Given the description of an element on the screen output the (x, y) to click on. 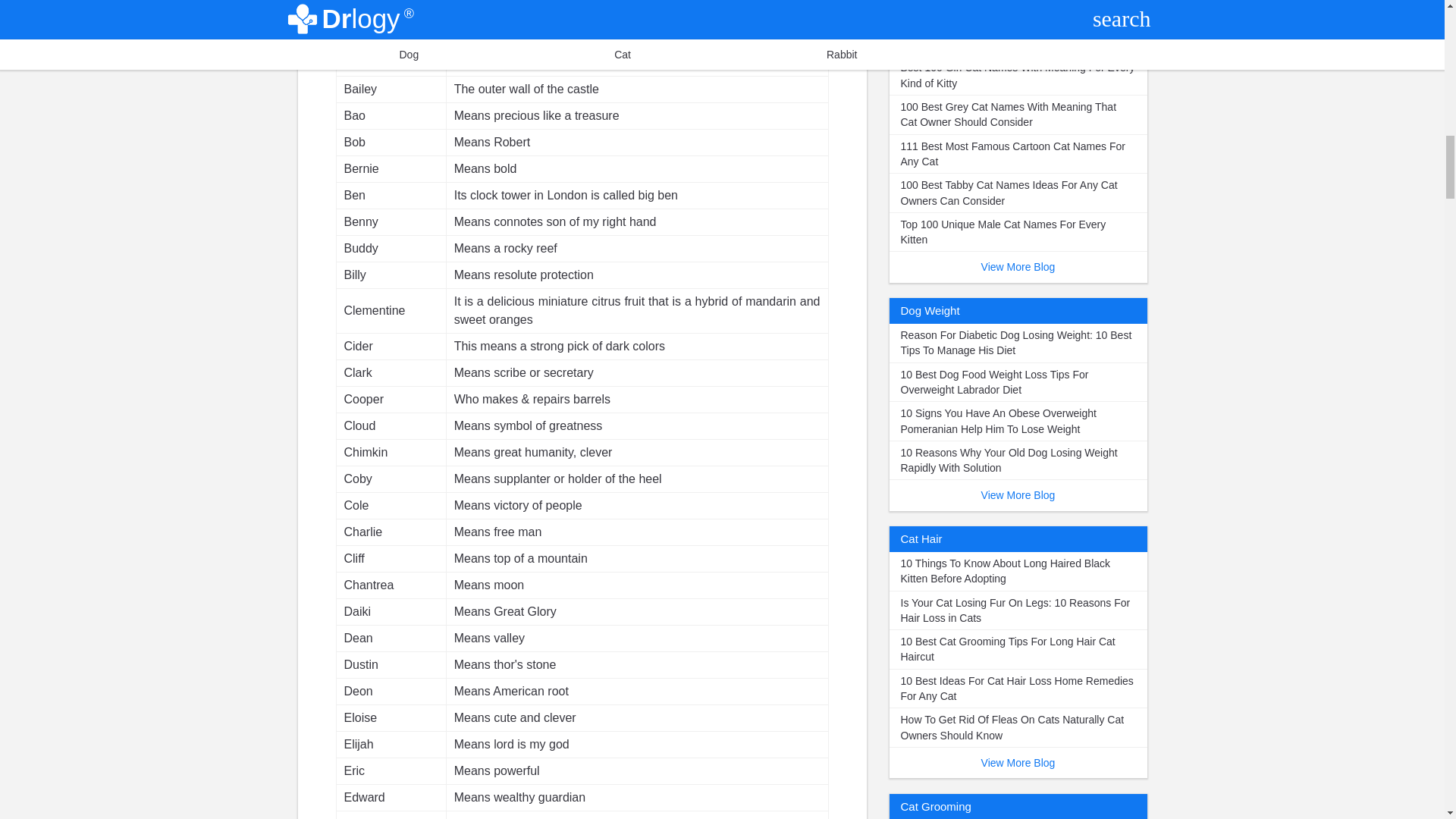
111 Best Most Famous Cartoon Cat Names For Any Cat (1017, 154)
Top 100 Unique Male Cat Names For Every Kitten (1017, 232)
Best 111 Female Cat Names With Meaning For Any Cat (1017, 36)
Best 100 Girl Cat Names With Meaning For Every Kind of Kitty (1017, 75)
View More Blog (1017, 266)
